Given the description of an element on the screen output the (x, y) to click on. 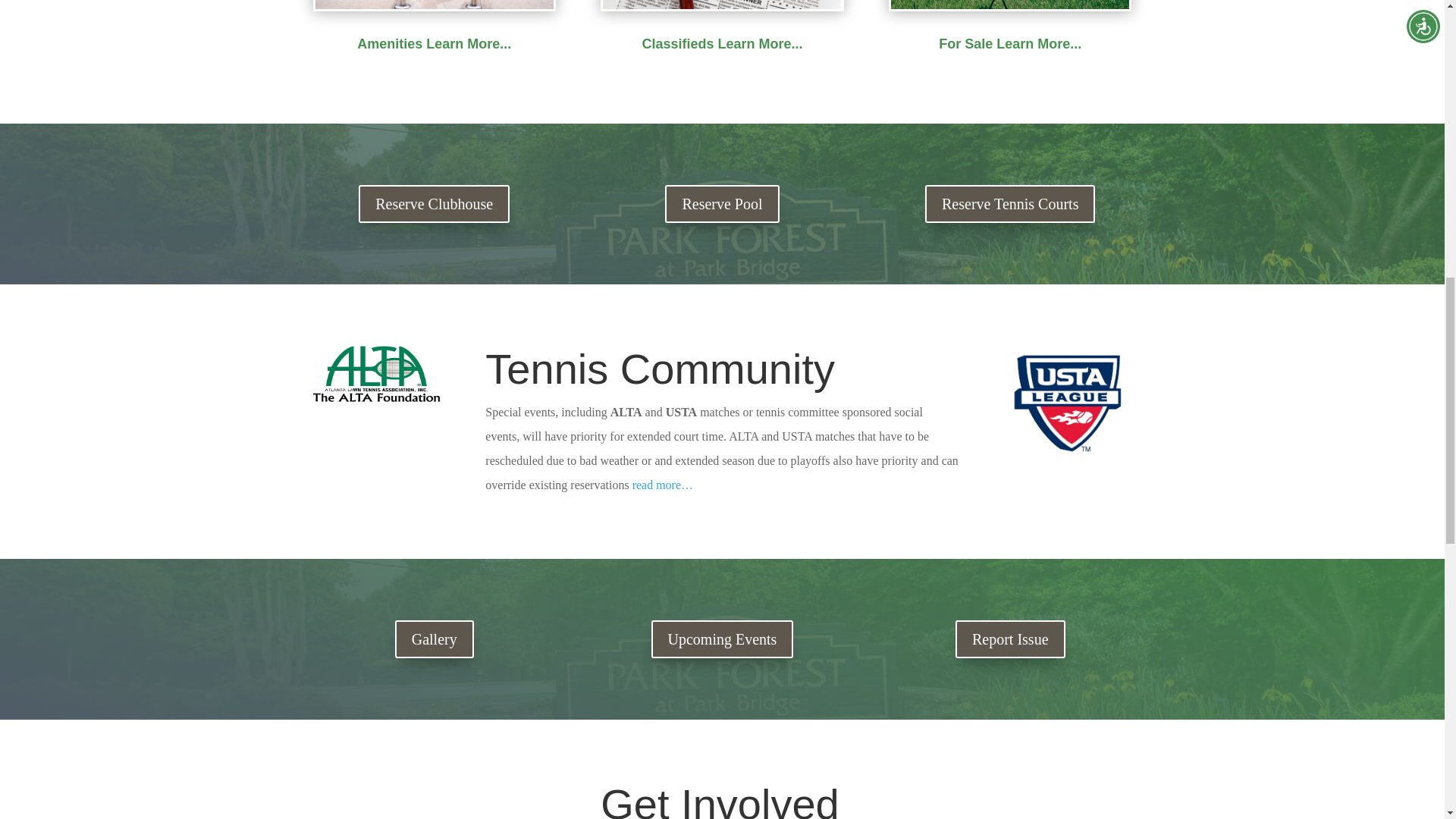
Amenities Learn More... (433, 43)
Classifieds Learn More... (722, 43)
Reserve Clubhouse (433, 203)
For Sale Learn More... (1010, 43)
